Given the description of an element on the screen output the (x, y) to click on. 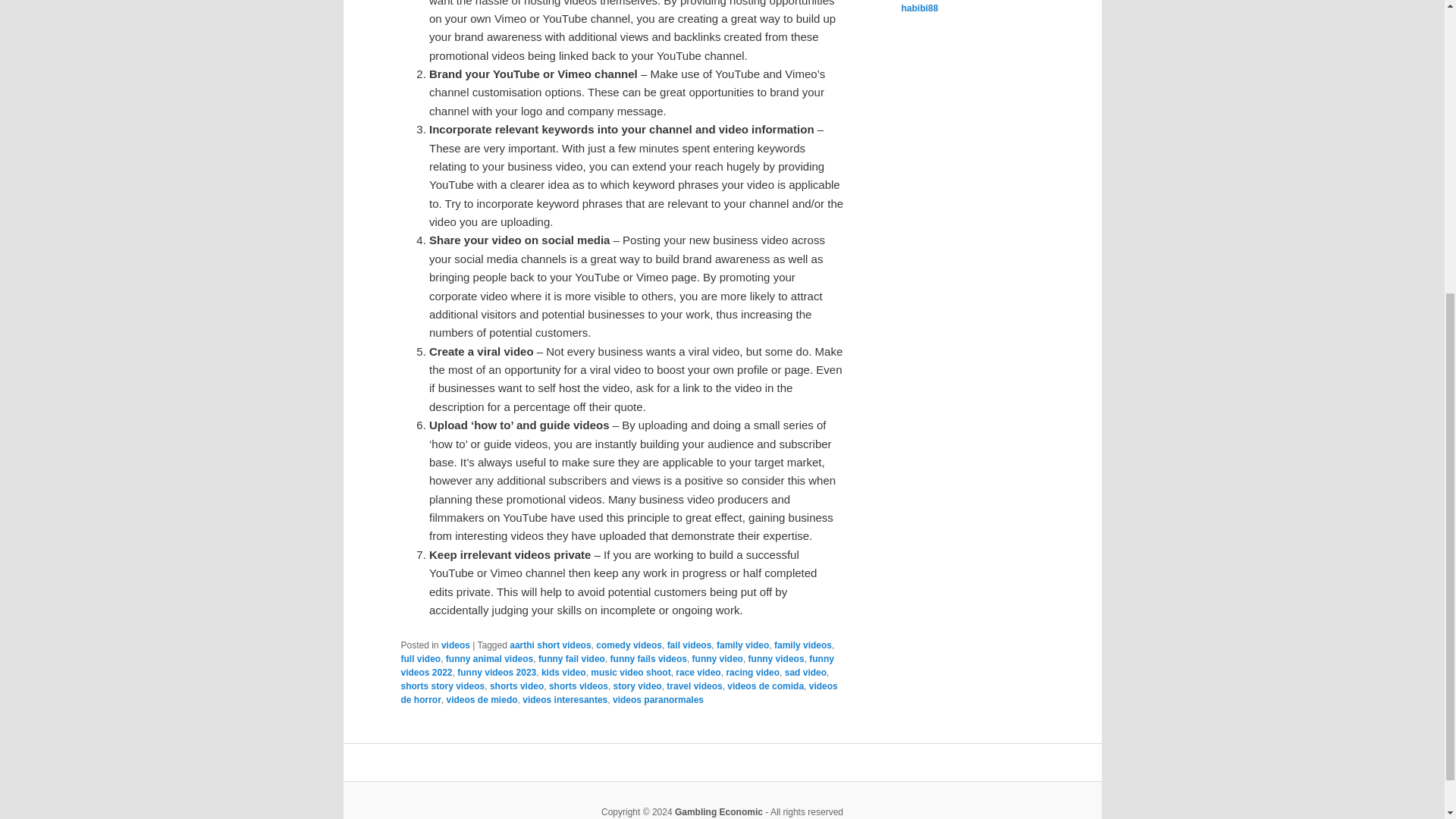
funny fail video (571, 658)
funny videos (776, 658)
race video (697, 672)
aarthi short videos (550, 644)
full video (420, 658)
funny videos 2023 (496, 672)
shorts story videos (442, 685)
fail videos (688, 644)
family videos (802, 644)
funny video (717, 658)
kids video (563, 672)
videos de comida (764, 685)
sad video (805, 672)
racing video (751, 672)
music video shoot (630, 672)
